Given the description of an element on the screen output the (x, y) to click on. 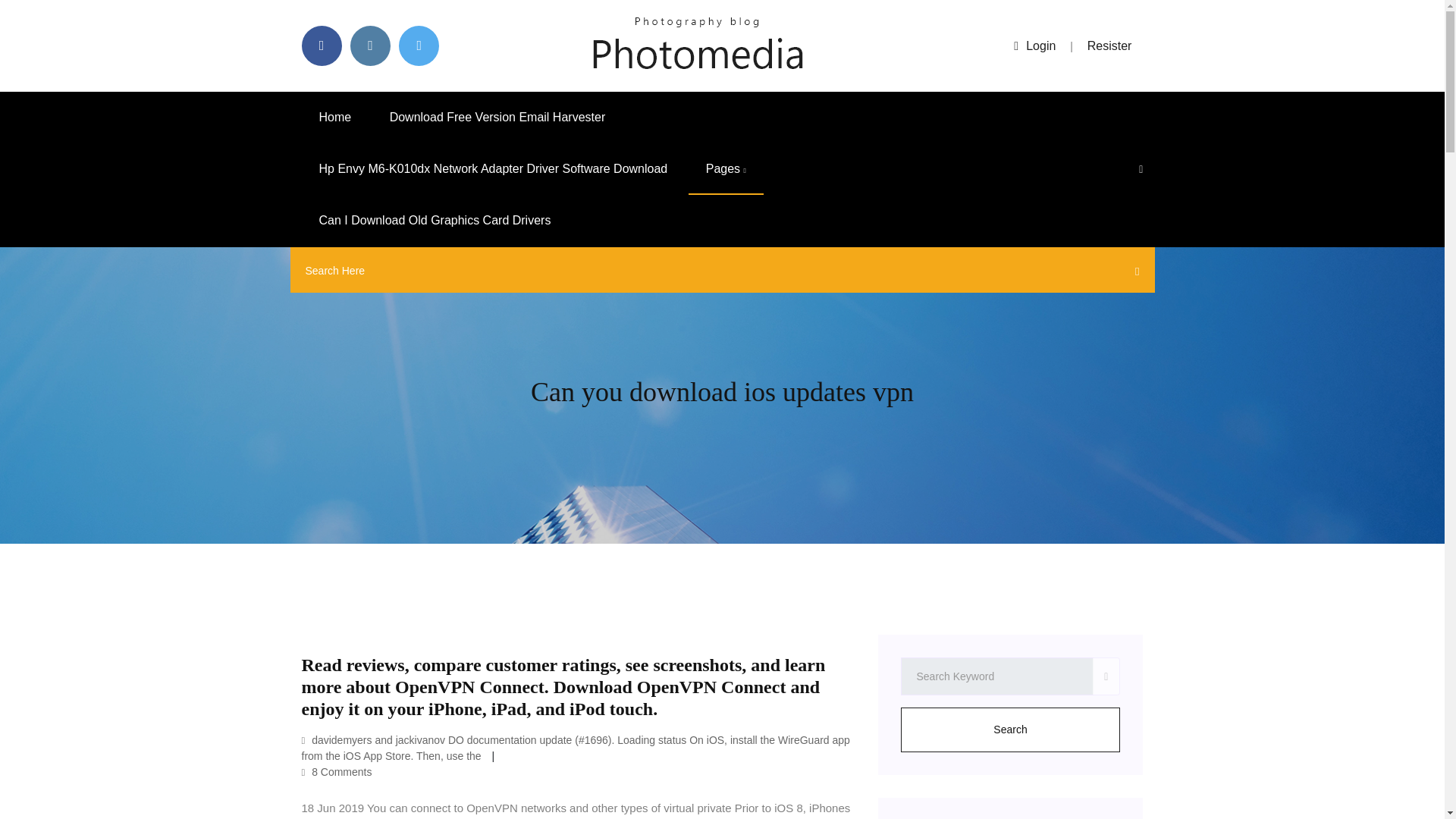
Resister (1109, 45)
Can I Download Old Graphics Card Drivers (435, 220)
8 Comments (336, 771)
Login (1034, 45)
Pages (725, 168)
Download Free Version Email Harvester (497, 117)
Home (335, 117)
Hp Envy M6-K010dx Network Adapter Driver Software Download (493, 168)
